Given the description of an element on the screen output the (x, y) to click on. 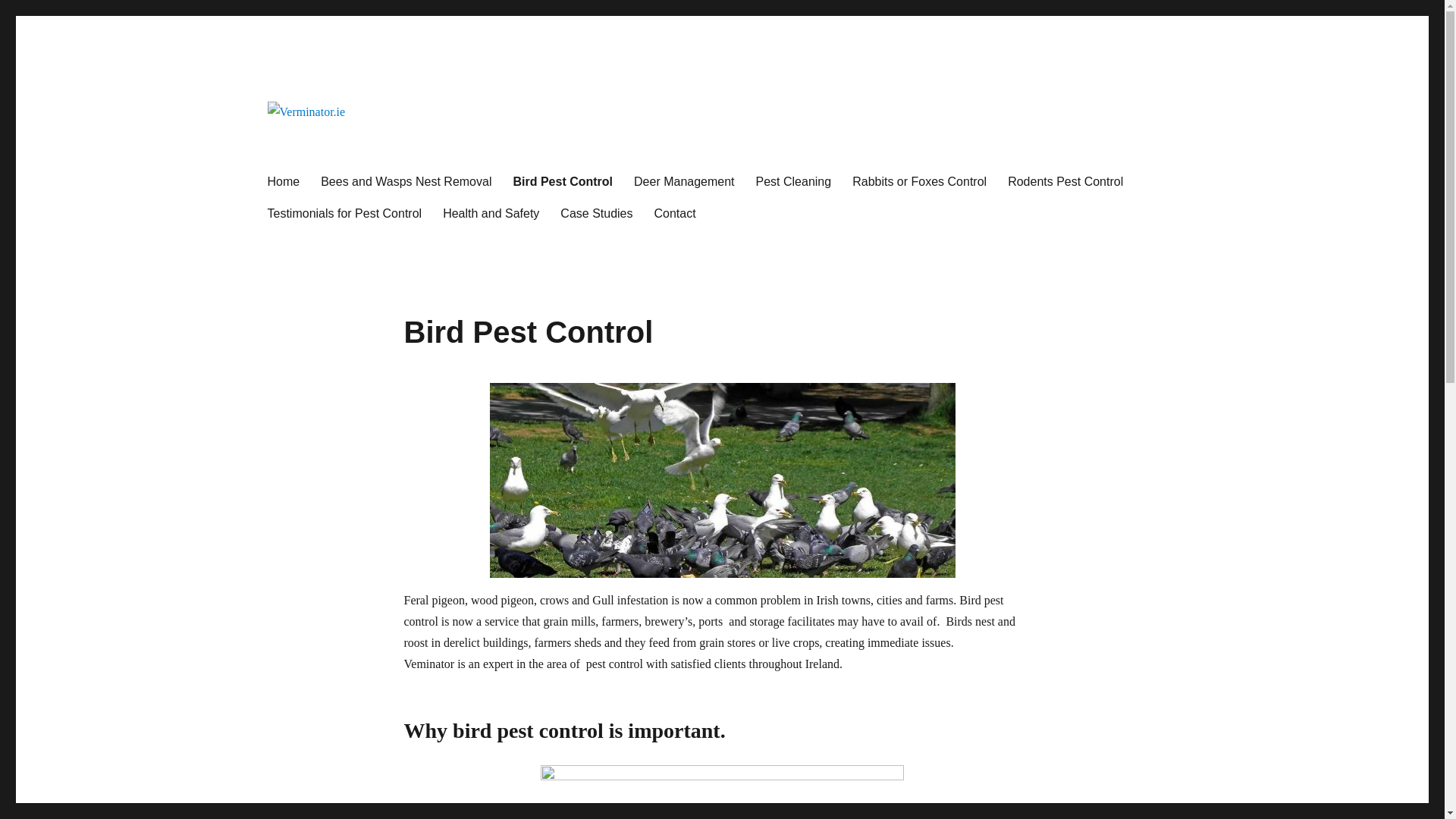
Rodents Pest Control (1065, 181)
Testimonials for Pest Control (344, 213)
Case Studies (596, 213)
Contact (674, 213)
Home (283, 181)
Health and Safety (491, 213)
Rabbits or Foxes Control (919, 181)
Verminator.ie (333, 146)
Pest Cleaning (794, 181)
Bird Pest Control (562, 181)
